Given the description of an element on the screen output the (x, y) to click on. 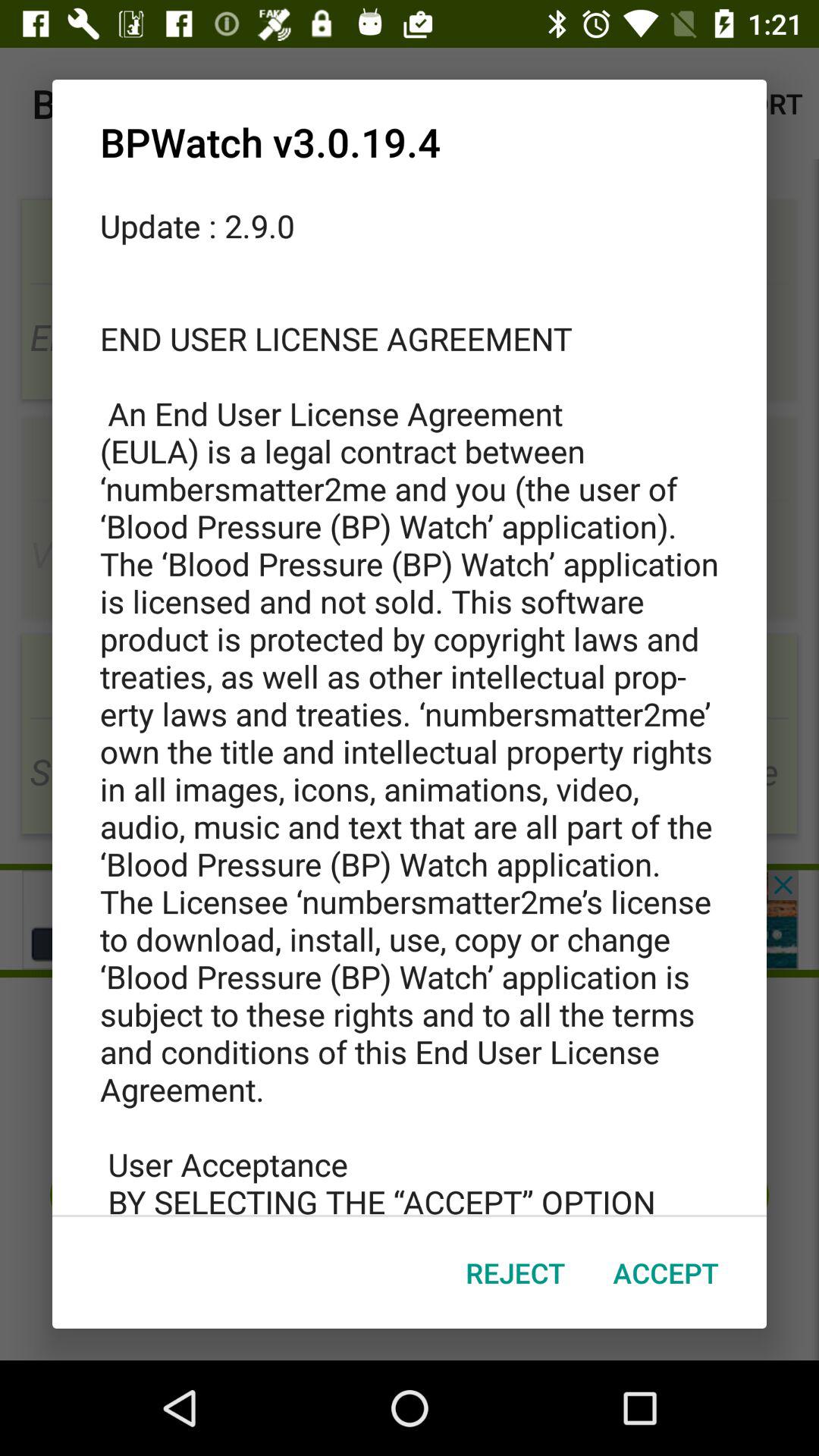
select icon next to the reject (665, 1272)
